Given the description of an element on the screen output the (x, y) to click on. 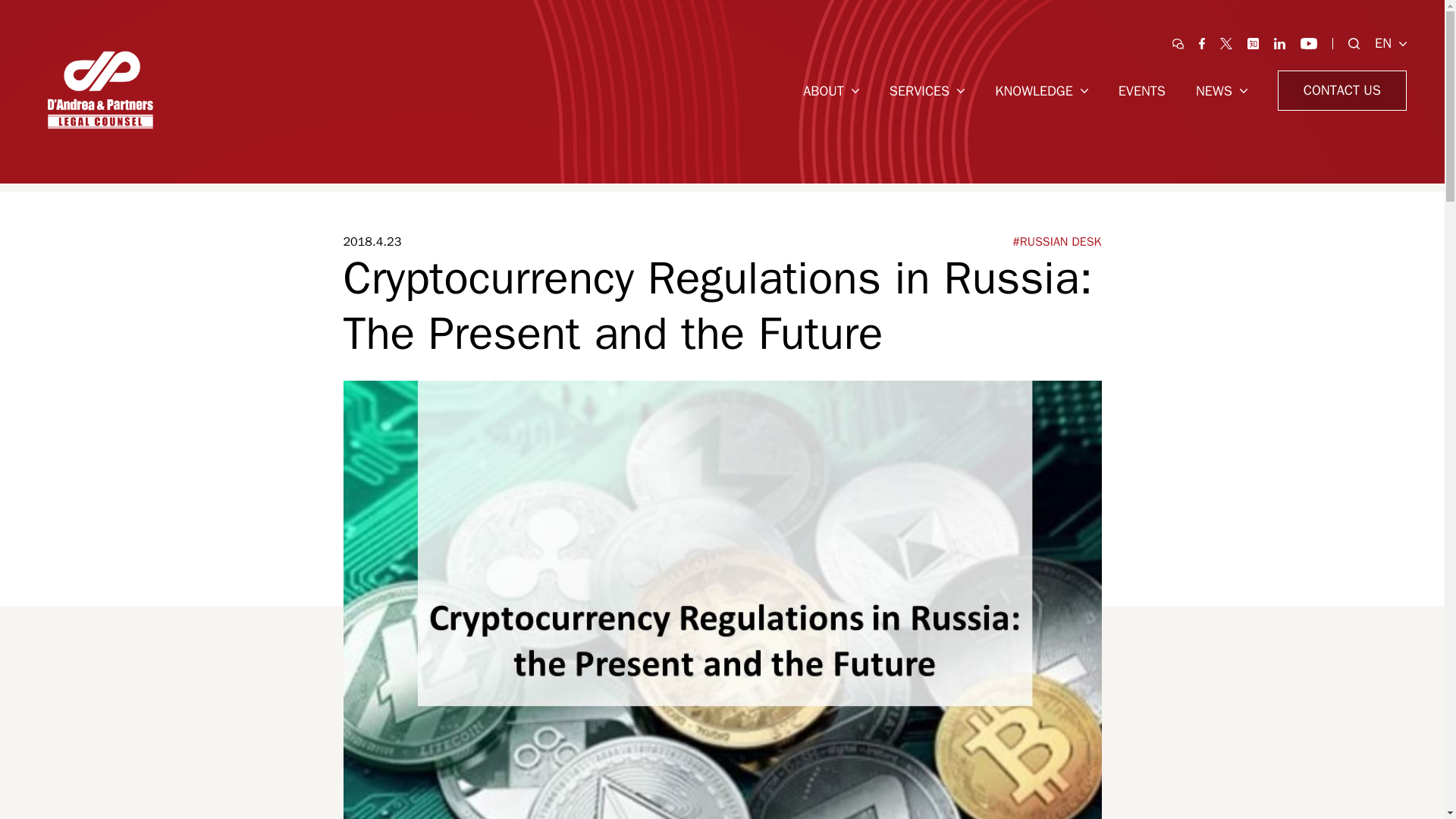
NEWS (1221, 90)
SERVICES (926, 90)
KNOWLEDGE (1040, 90)
ABOUT (831, 90)
EVENTS (1142, 89)
